Given the description of an element on the screen output the (x, y) to click on. 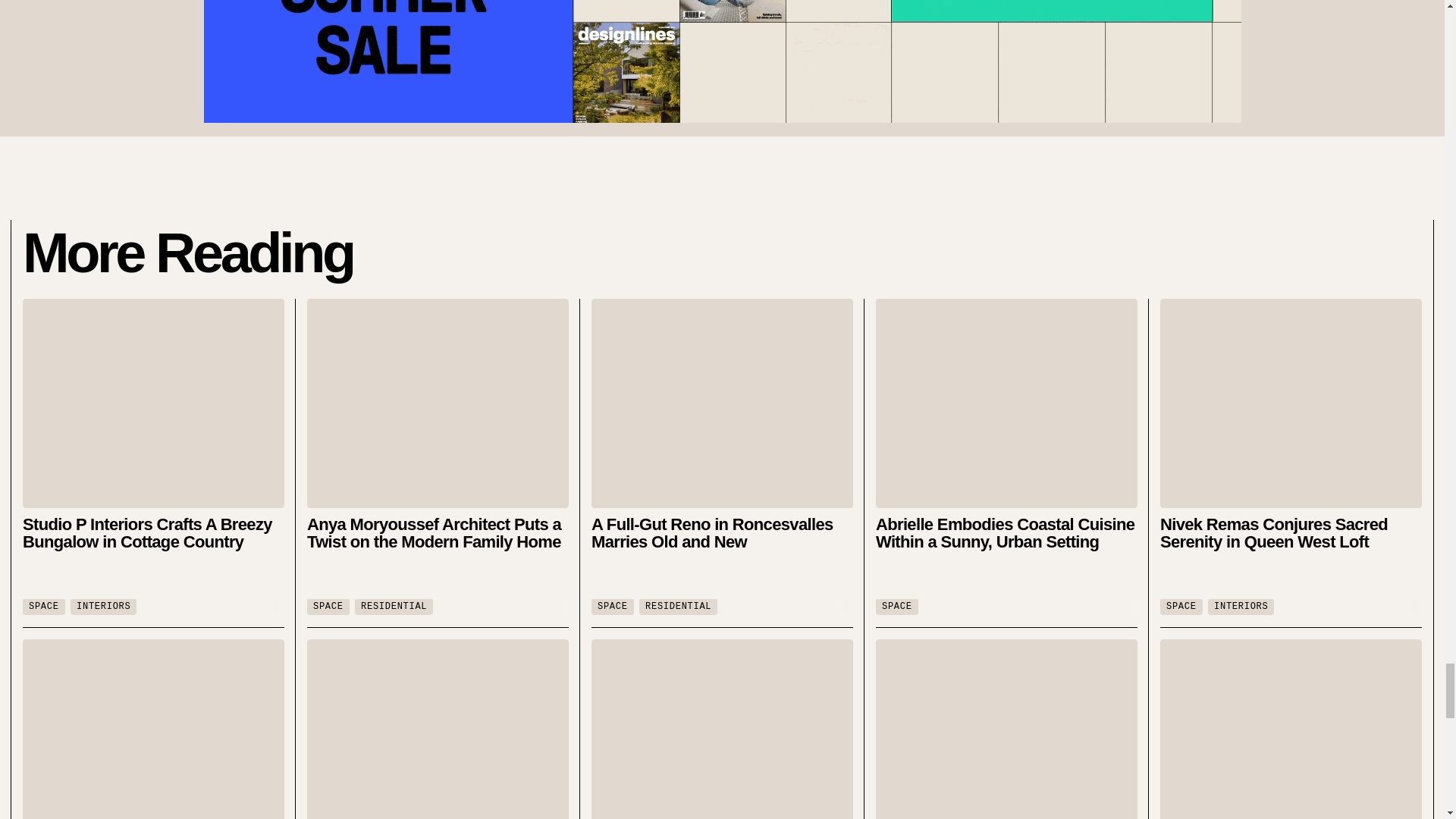
Designlines - Summer Sale July 2024 - ZONE B PowerBar (721, 61)
